Given the description of an element on the screen output the (x, y) to click on. 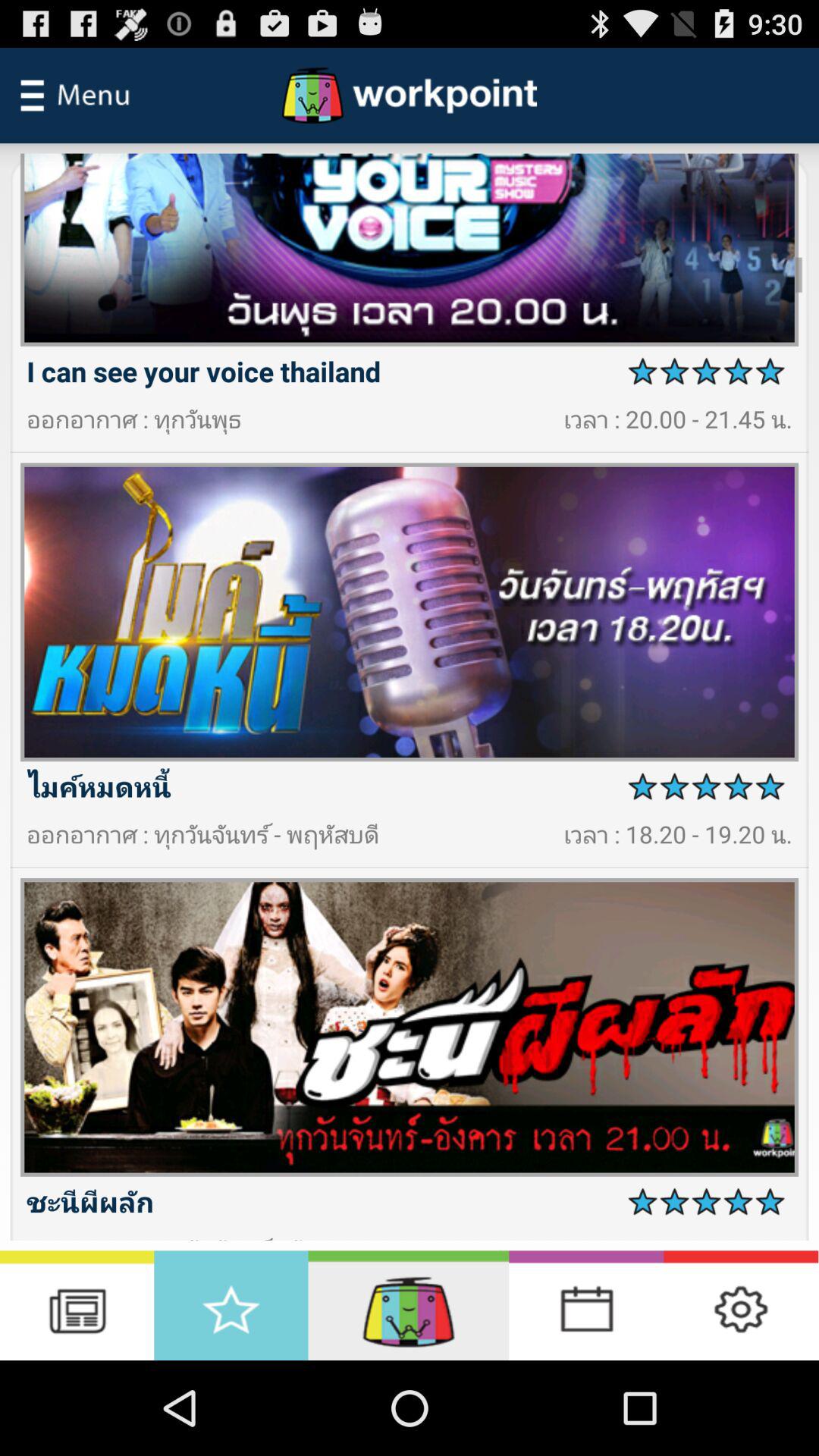
select menu (75, 95)
